Given the description of an element on the screen output the (x, y) to click on. 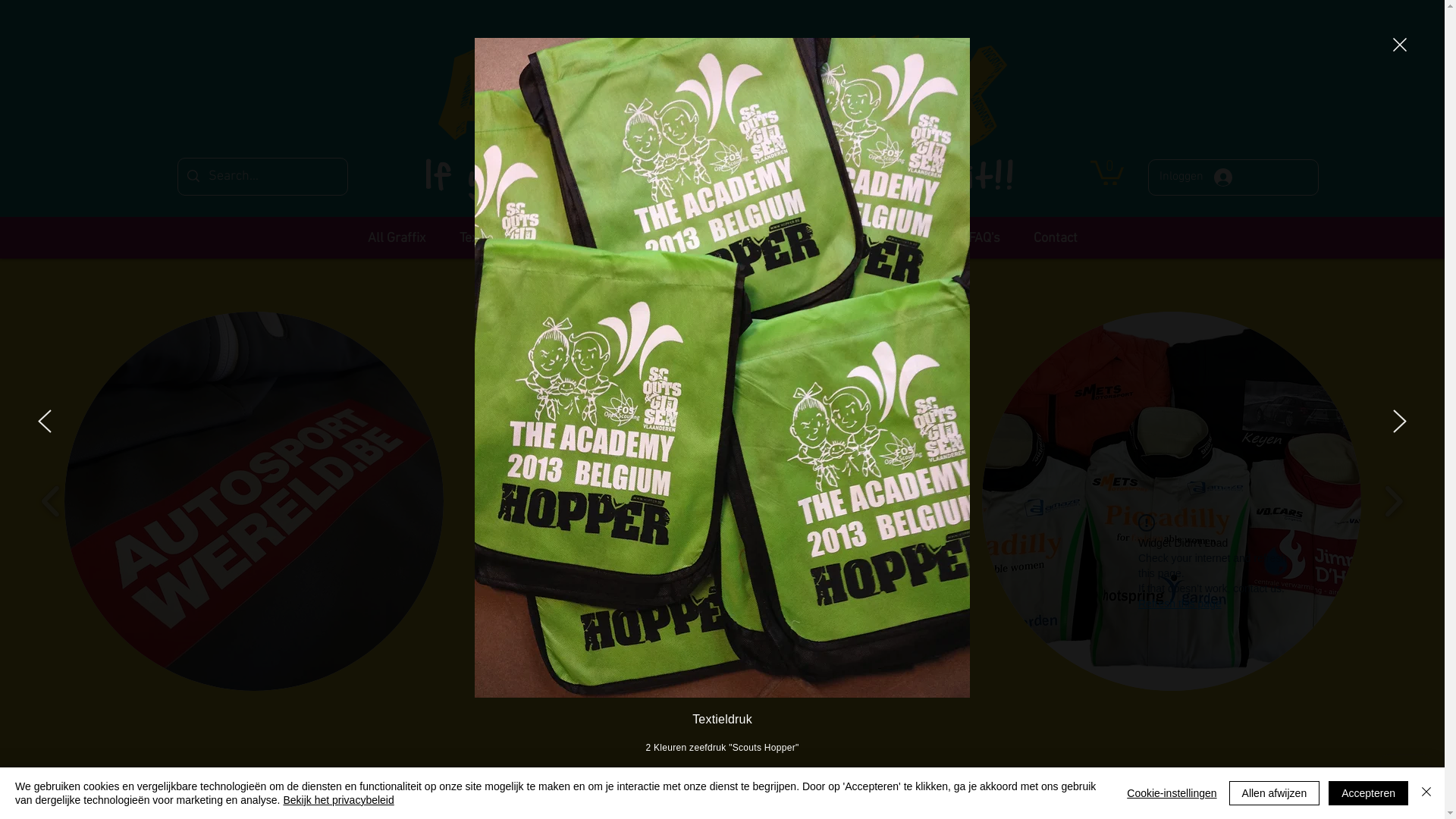
All Graffix Element type: text (396, 230)
+32 16 60 34 57 Element type: text (957, 779)
Privacy Beleid Element type: text (496, 779)
Contact Element type: text (1054, 230)
Algemene Voorwaarden Element type: text (493, 802)
info@allgraffix.be Element type: text (960, 802)
Tiensesteenweg 261/4 Element type: text (734, 779)
Textieldruk Element type: text (491, 230)
Stickers Element type: text (819, 230)
Inloggen Element type: text (1195, 177)
Allen afwijzen Element type: text (1274, 793)
Accepteren Element type: text (1368, 793)
Binnenreclame Element type: text (718, 230)
Refresh this page Element type: text (1179, 603)
Bekijk het privacybeleid Element type: text (337, 799)
0 Element type: text (1106, 171)
Drukwerk Element type: text (906, 230)
Buitenreclame Element type: text (598, 230)
FAQ's Element type: text (983, 230)
